Given the description of an element on the screen output the (x, y) to click on. 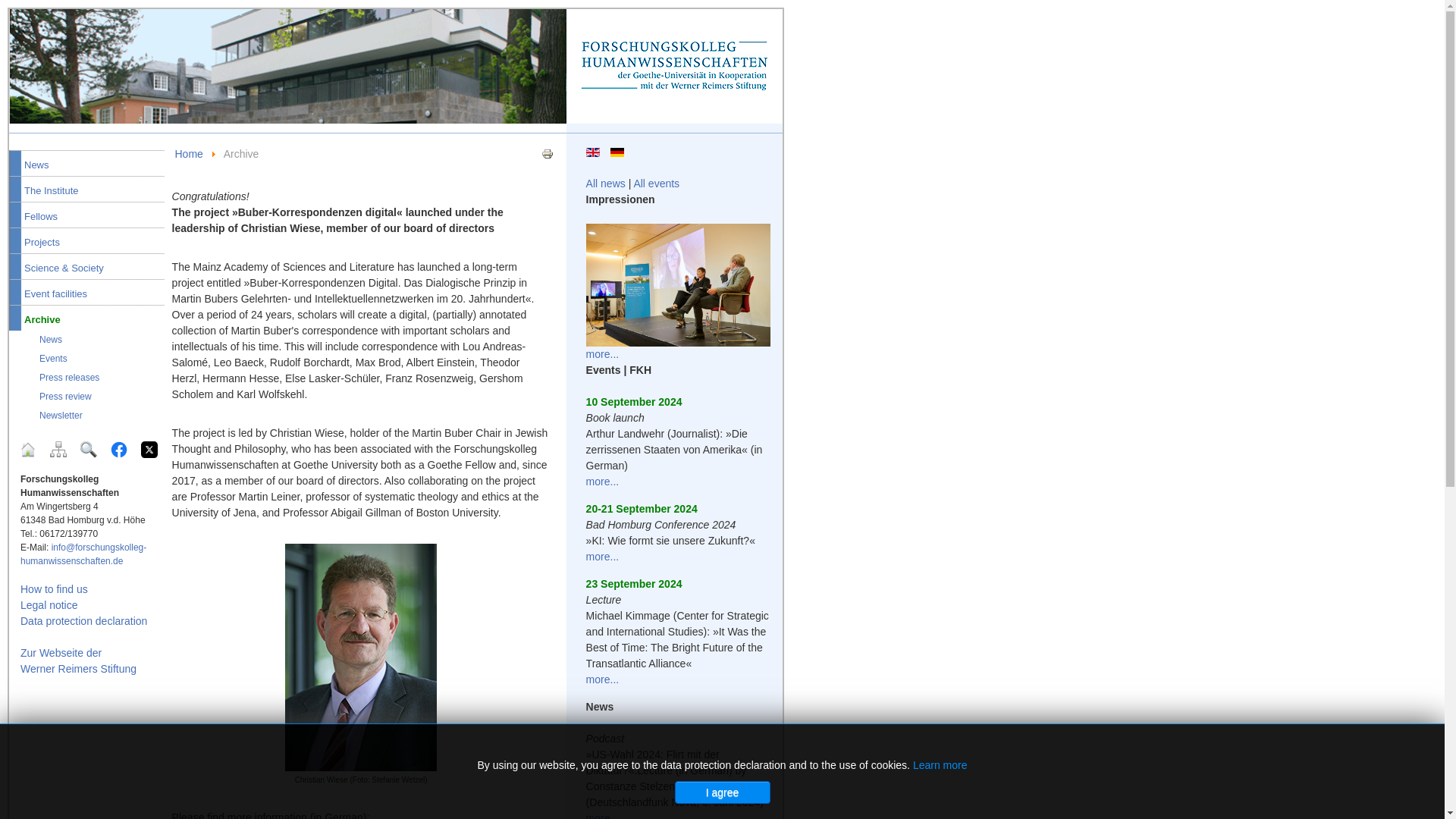
Suche (88, 449)
more... (603, 556)
Projects (86, 240)
How to find us (53, 589)
All events (656, 183)
Home (28, 449)
All news (606, 183)
more... (603, 679)
more... (603, 481)
Fellows (86, 214)
